Given the description of an element on the screen output the (x, y) to click on. 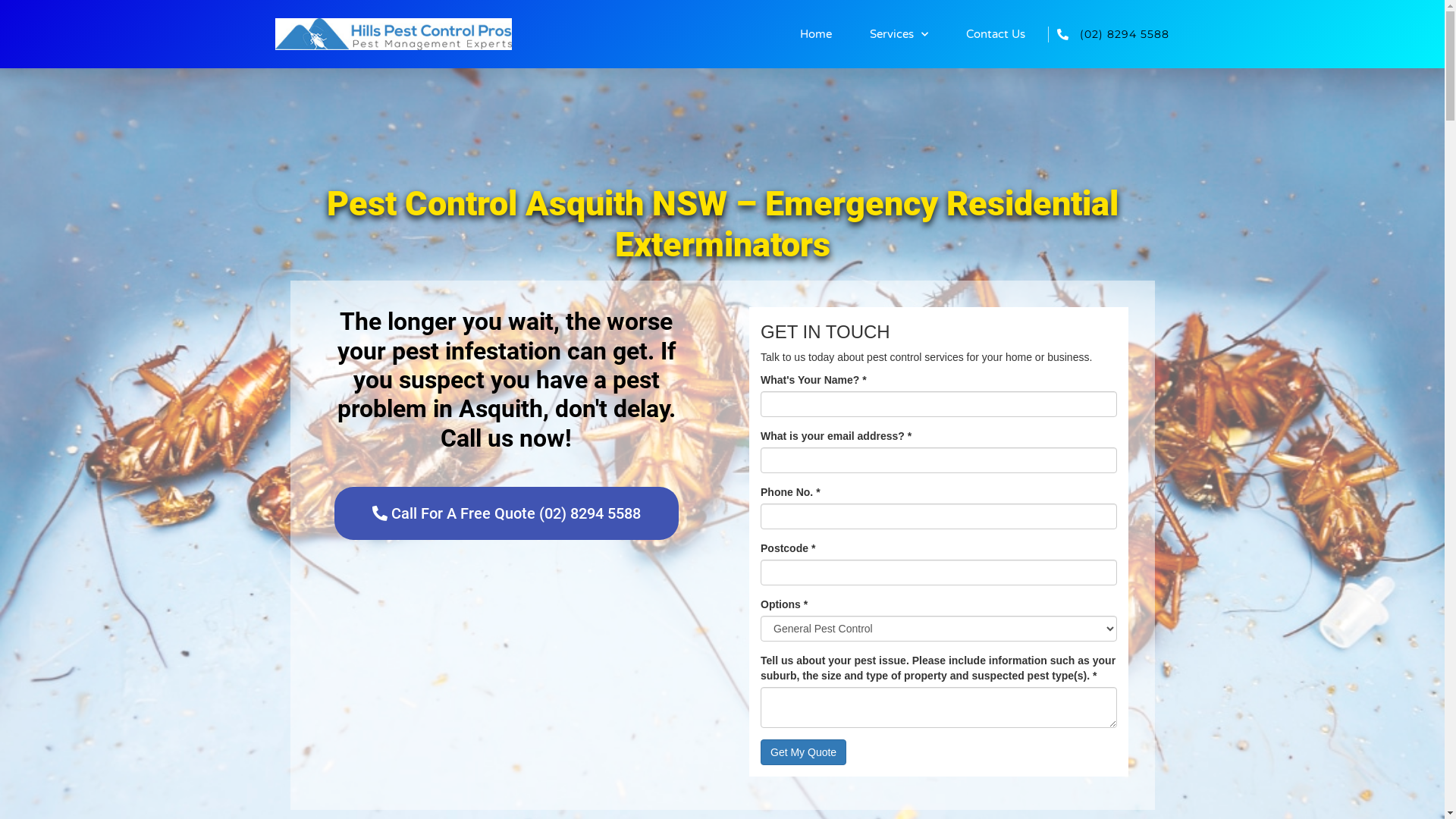
Contact Us Element type: text (995, 34)
(02) 8294 5588 Element type: text (1124, 33)
Call For A Free Quote (02) 8294 5588 Element type: text (505, 512)
Services Element type: text (898, 34)
Home Element type: text (815, 34)
